Given the description of an element on the screen output the (x, y) to click on. 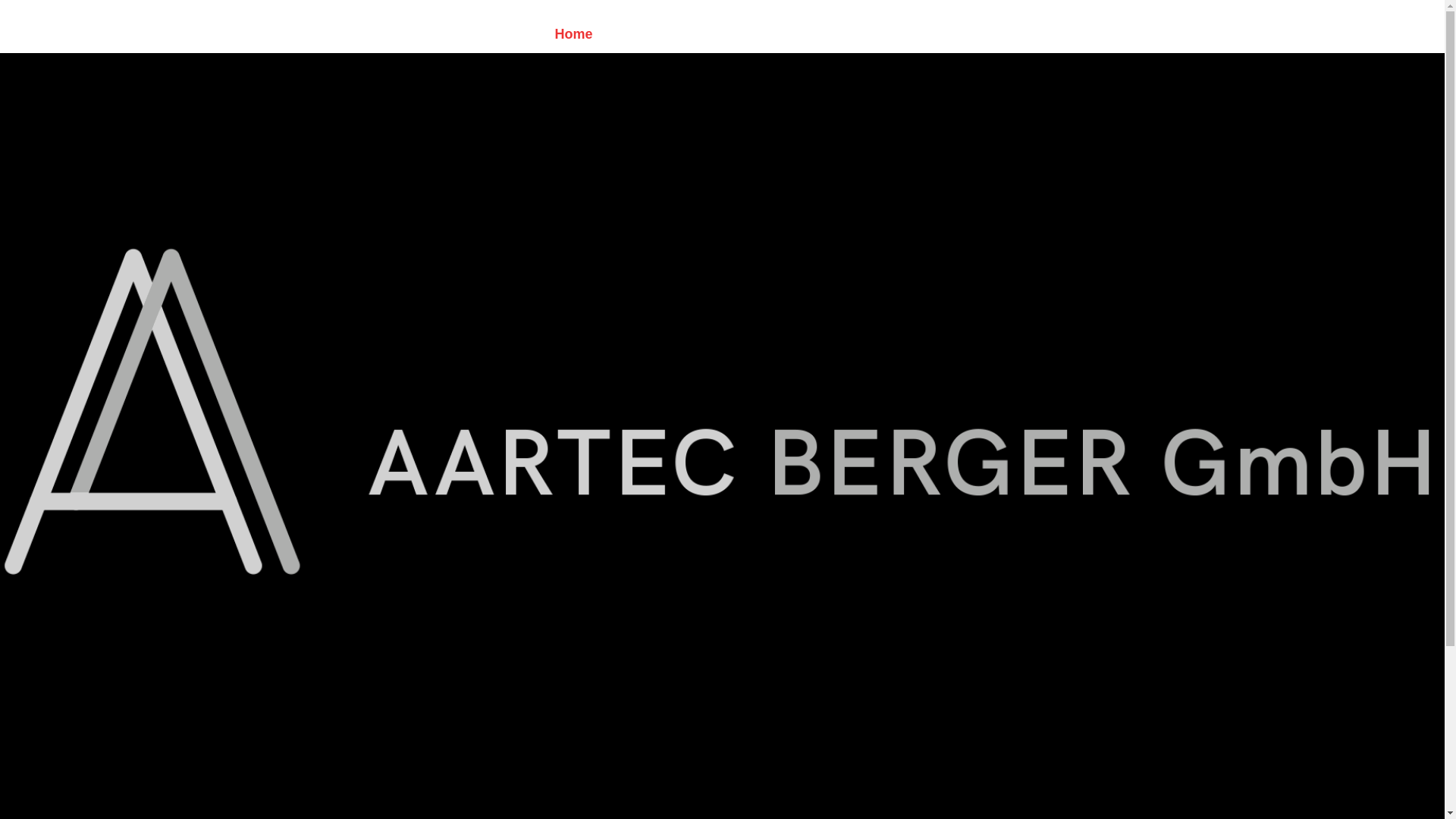
Home Element type: text (579, 33)
